Given the description of an element on the screen output the (x, y) to click on. 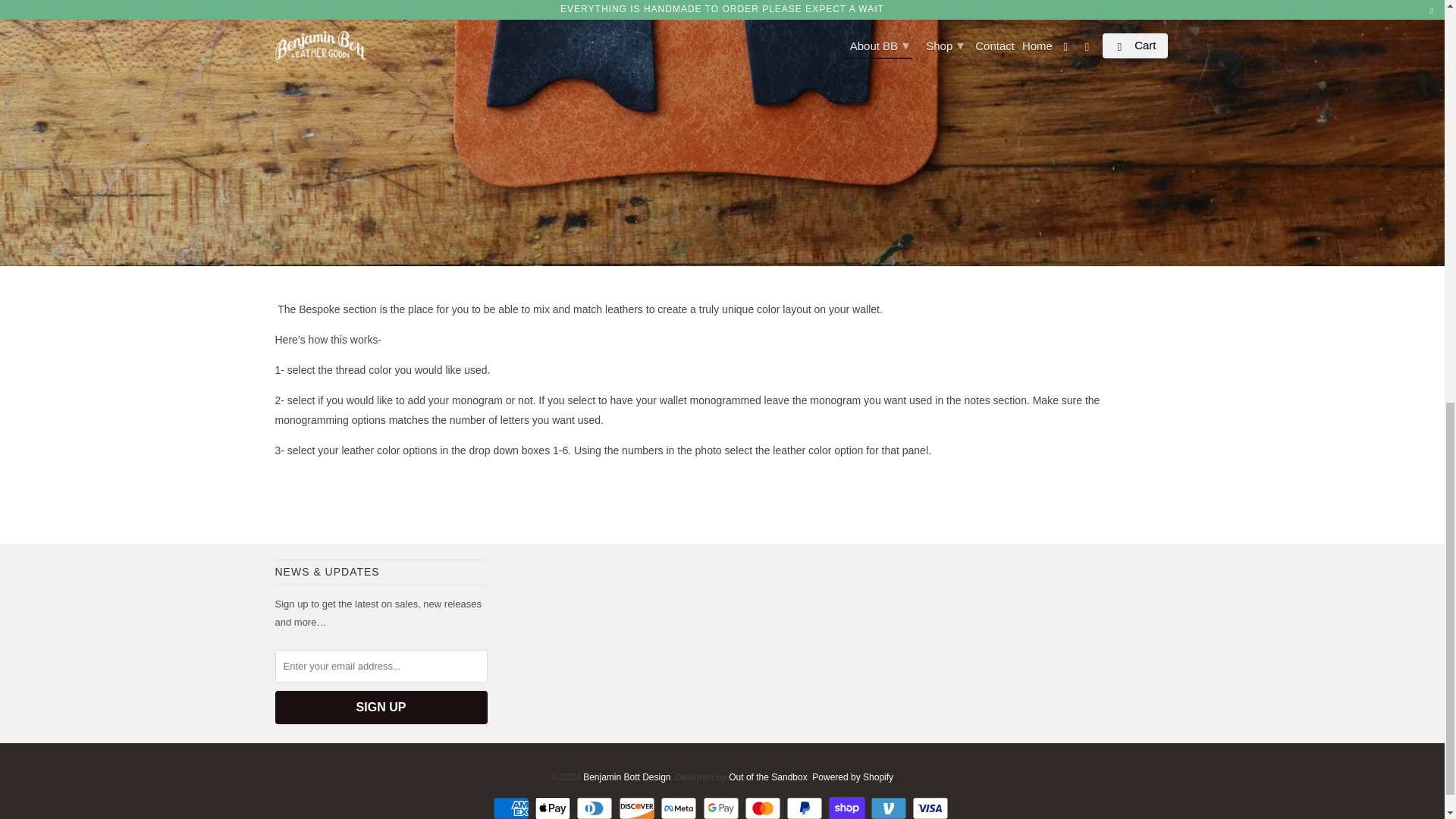
Sign Up (380, 707)
Discover (638, 807)
Retina Shopify Theme by Out of the Sandbox (767, 777)
Venmo (890, 807)
Apple Pay (553, 807)
Diners Club (595, 807)
Mastercard (764, 807)
PayPal (805, 807)
Visa (932, 807)
Google Pay (721, 807)
